Given the description of an element on the screen output the (x, y) to click on. 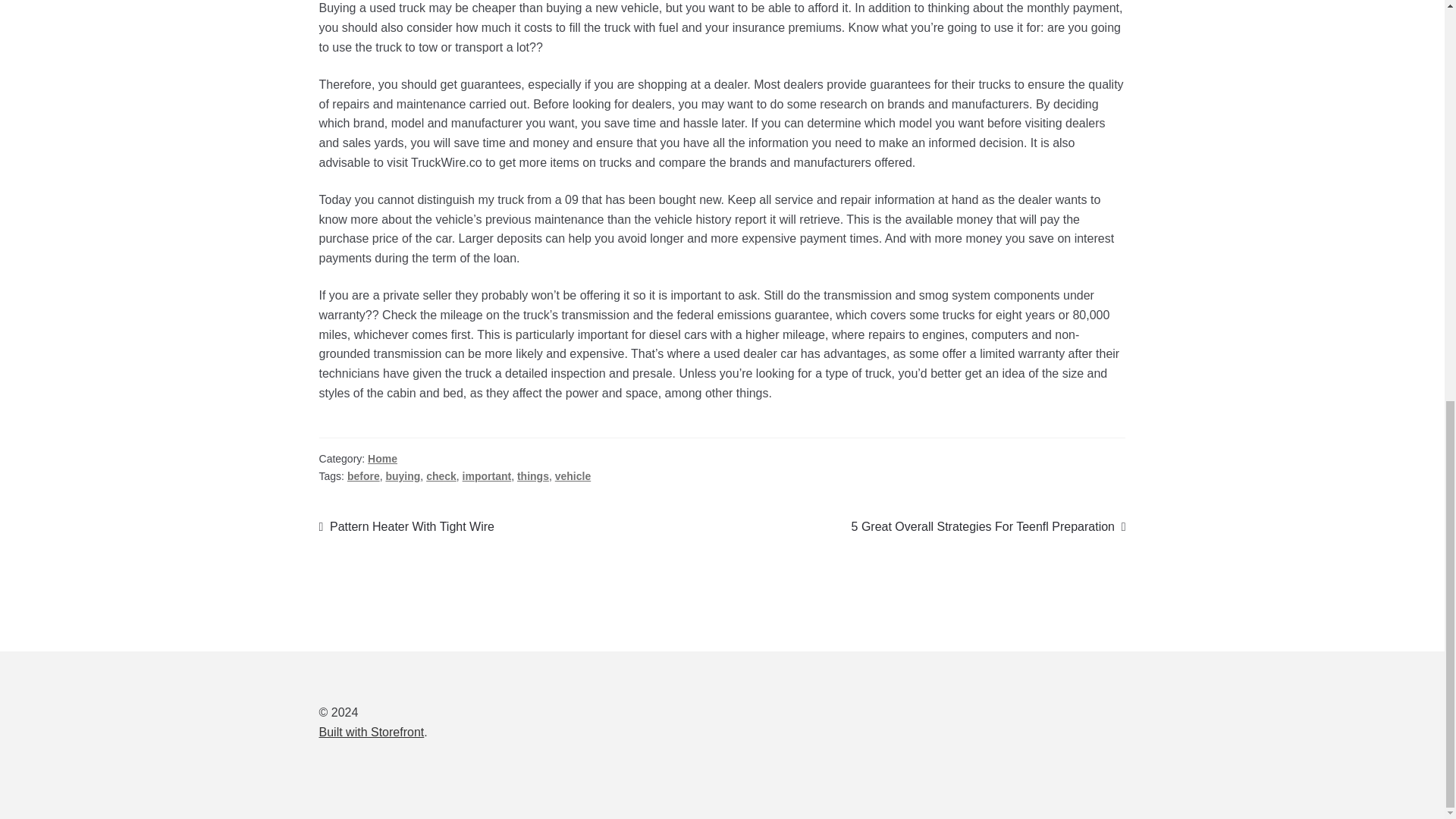
Home (382, 458)
important (487, 476)
buying (406, 526)
before (402, 476)
things (363, 476)
Built with Storefront (532, 476)
check (988, 526)
